Given the description of an element on the screen output the (x, y) to click on. 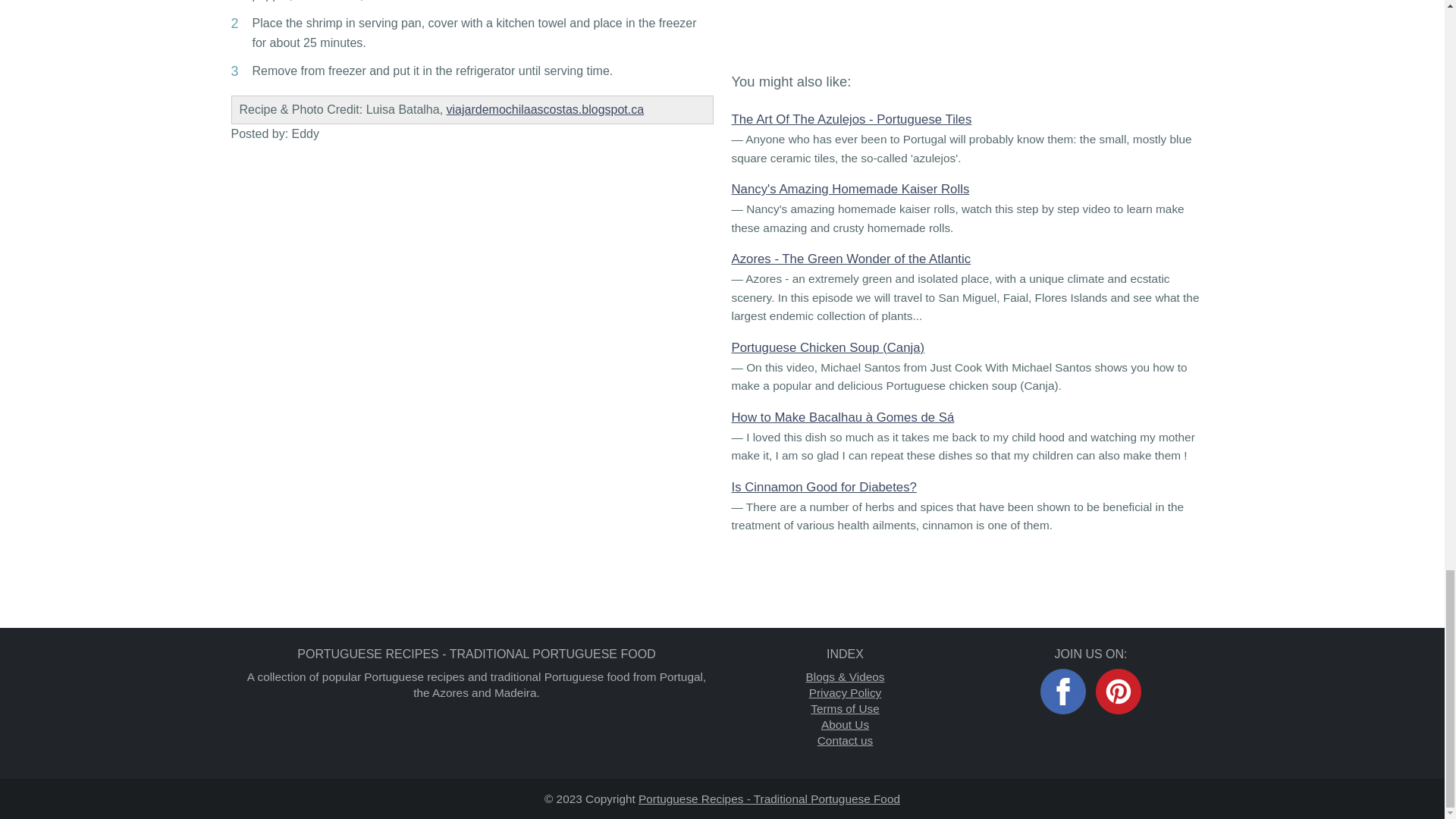
Azores - The Green Wonder of the Atlantic (850, 258)
Advertisement (971, 22)
Terms of Use (844, 707)
Follow us on Pinterest (1118, 691)
Portuguese Recipes - Traditional Portuguese Food (769, 798)
Join us on Facebook (1063, 691)
Nancy's Amazing Homemade Kaiser Rolls (849, 188)
About Us (845, 724)
Privacy Policy (845, 692)
viajardemochilaascostas.blogspot.ca (545, 109)
Is Cinnamon Good for Diabetes? (822, 486)
The Art Of The Azulejos - Portuguese Tiles (850, 119)
Contact us (844, 739)
